Given the description of an element on the screen output the (x, y) to click on. 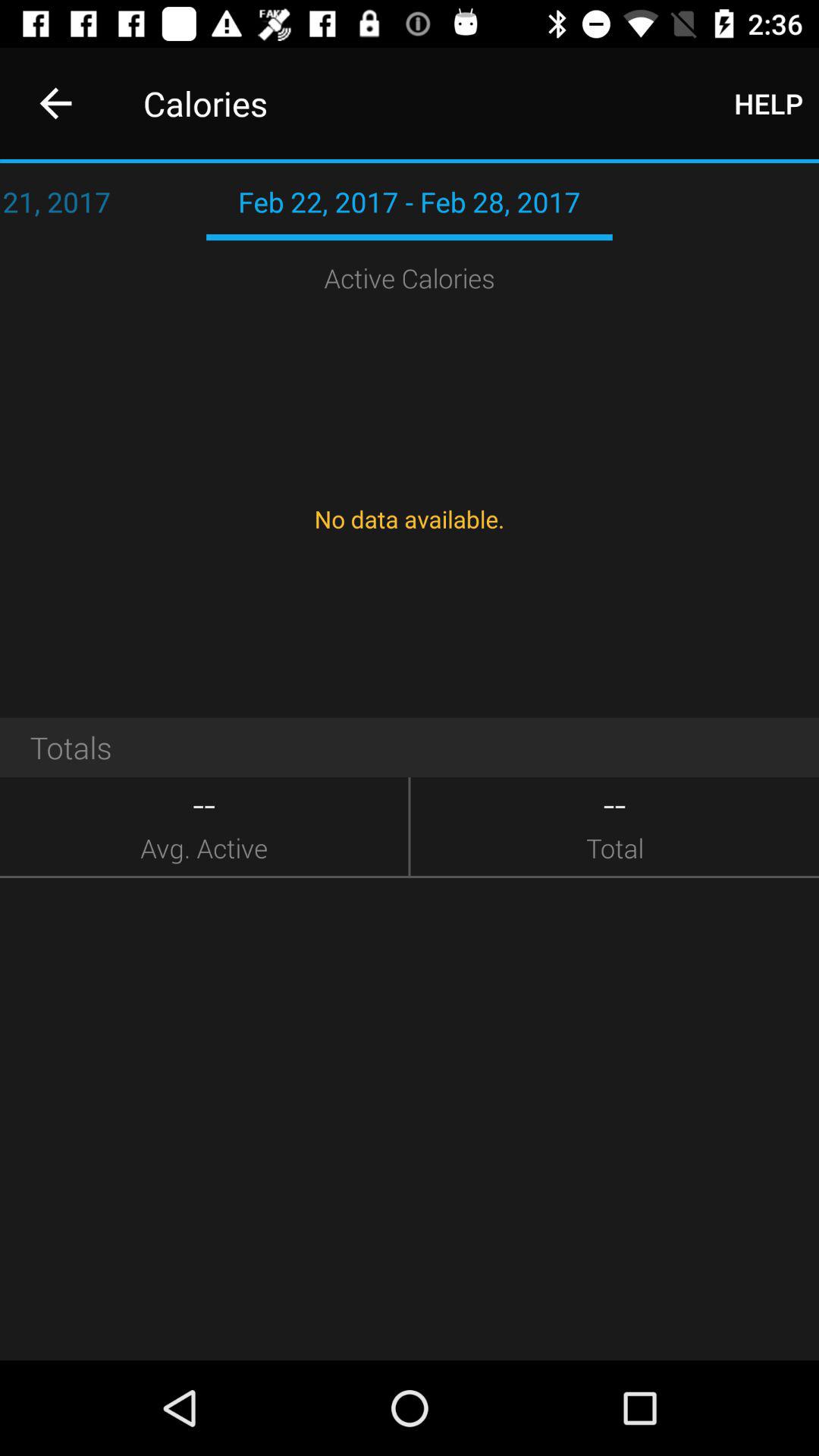
select item to the left of calories icon (55, 103)
